Given the description of an element on the screen output the (x, y) to click on. 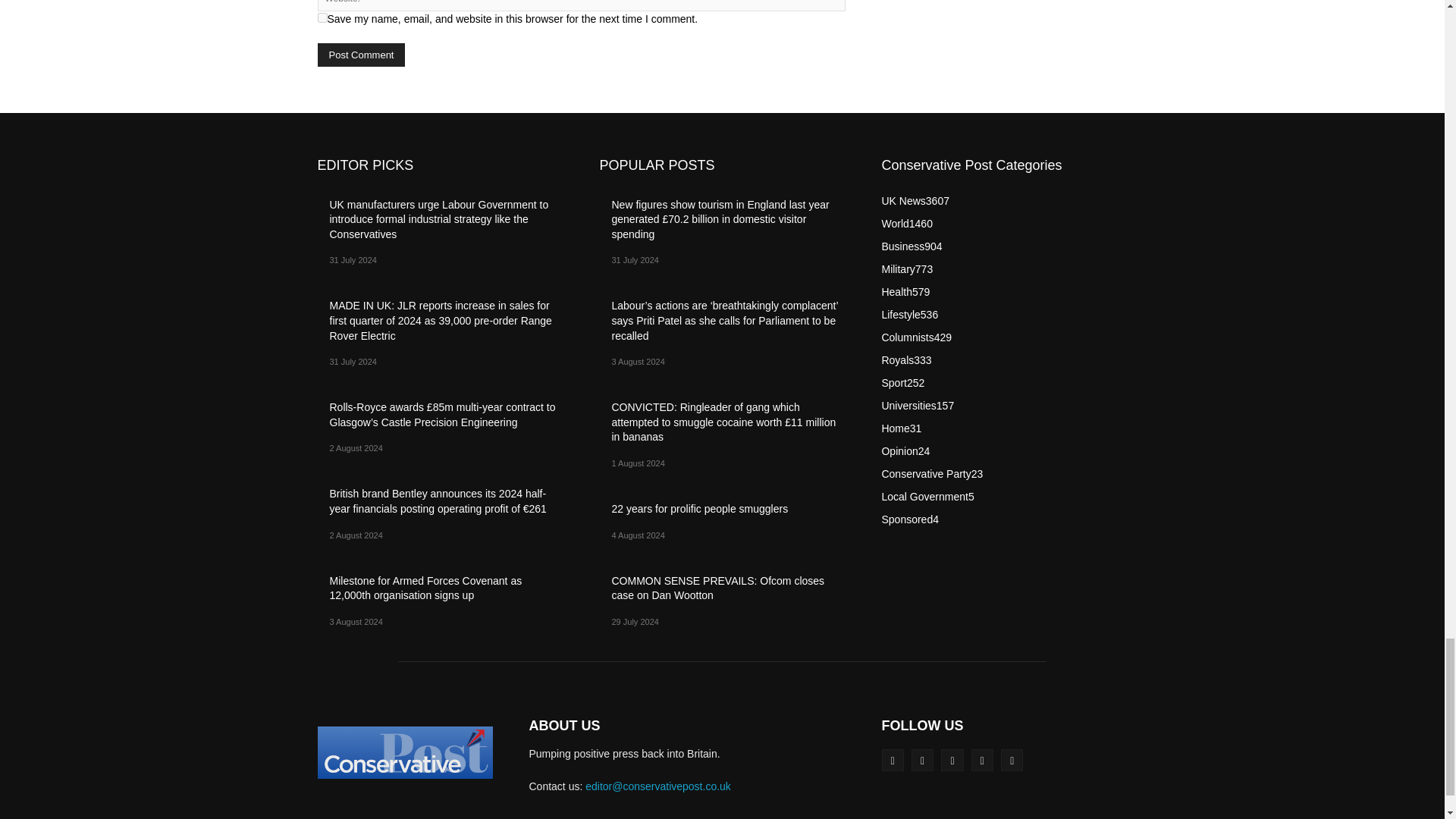
Post Comment (360, 54)
yes (321, 17)
